Given the description of an element on the screen output the (x, y) to click on. 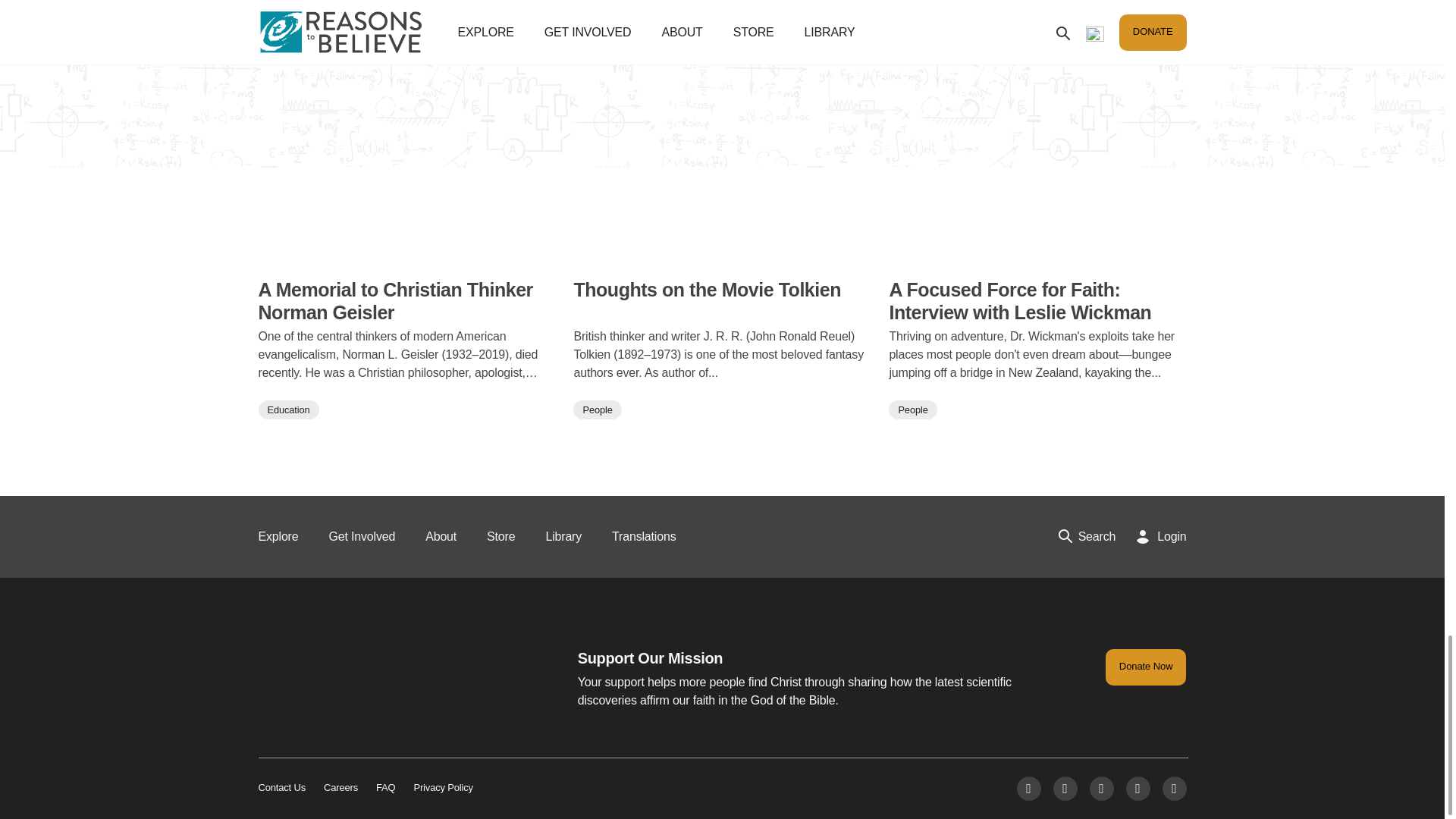
A Memorial to Christian Thinker Norman Geisler (405, 253)
Thoughts on the Movie Tolkien (721, 253)
Thoughts on the Movie Tolkien (721, 300)
A Focused Force for Faith: Interview with Leslie Wickman (1037, 300)
A Focused Force for Faith: Interview with Leslie Wickman (1037, 253)
A Memorial to Christian Thinker Norman Geisler (405, 300)
